Given the description of an element on the screen output the (x, y) to click on. 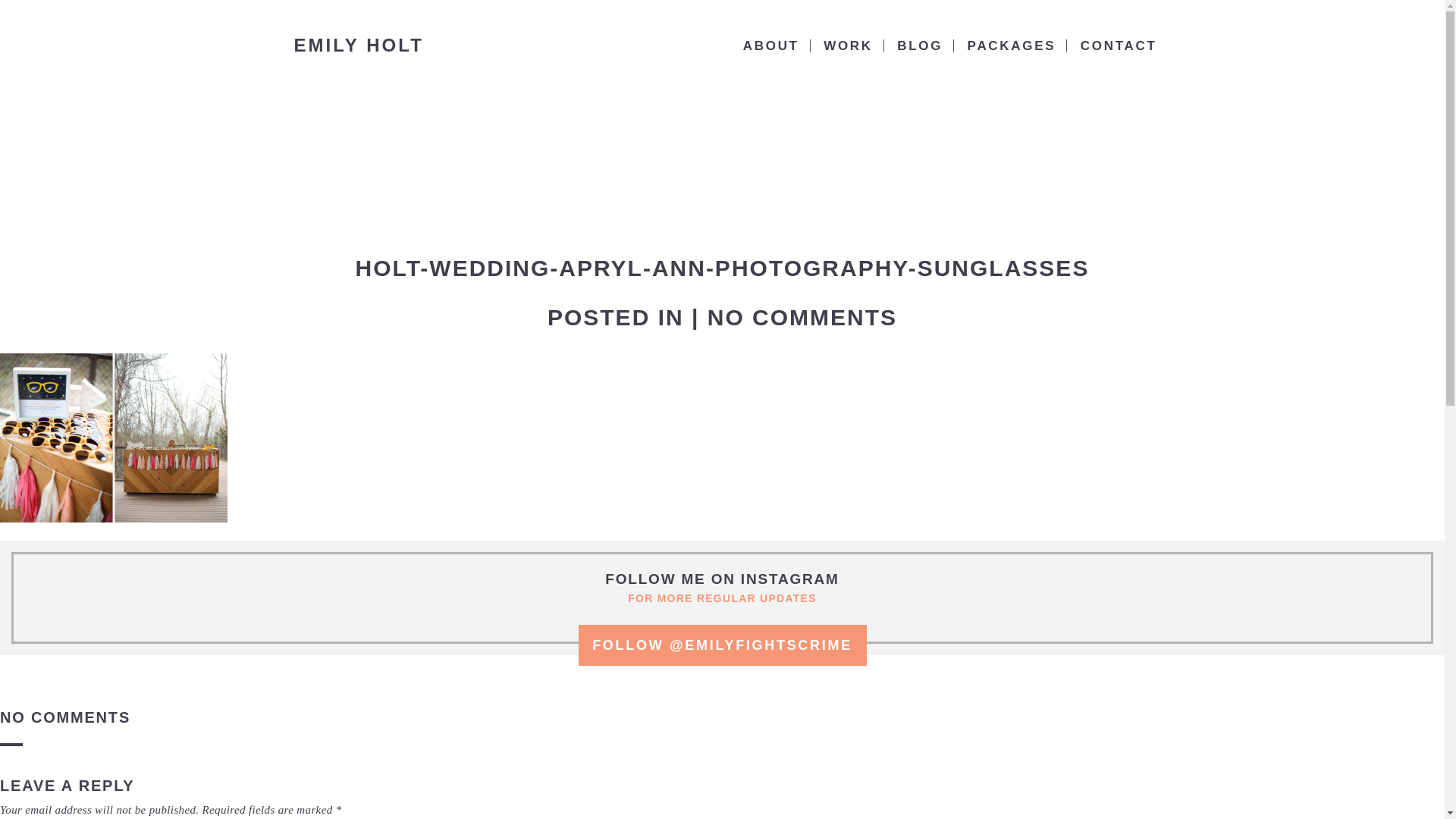
BLOG (921, 45)
ABOUT (772, 45)
PACKAGES (1013, 45)
WORK (849, 45)
EMILY HOLT (359, 45)
CONTACT (1120, 45)
